Given the description of an element on the screen output the (x, y) to click on. 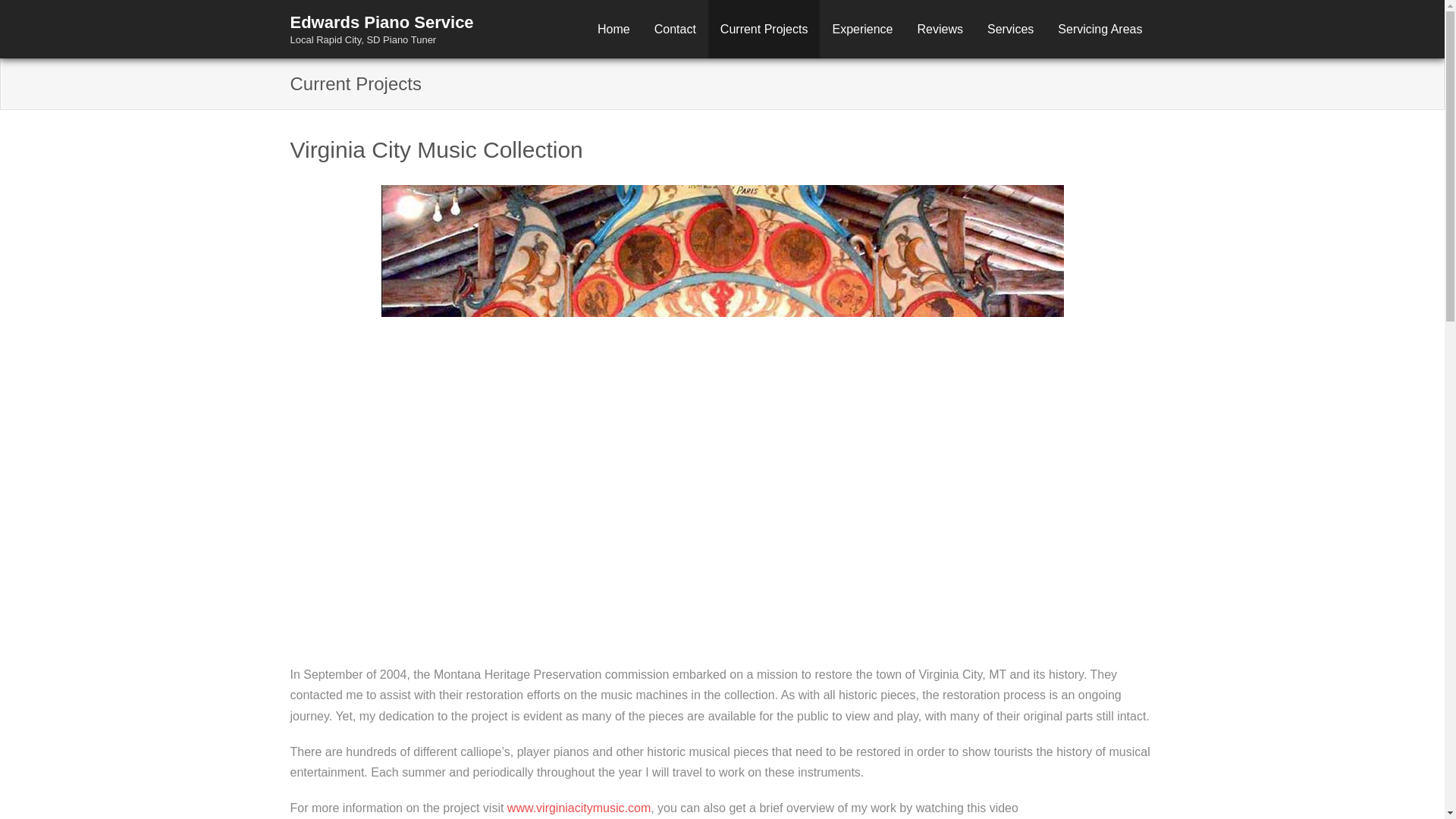
Services (1010, 29)
Home (613, 29)
Experience (861, 29)
Contact (674, 29)
www.virginiacitymusic.com (578, 807)
Reviews (940, 29)
Servicing Areas (381, 28)
Edwards Piano Service (1099, 29)
Local Rapid City, SD Piano Tuner (381, 23)
Current Projects (381, 40)
